Given the description of an element on the screen output the (x, y) to click on. 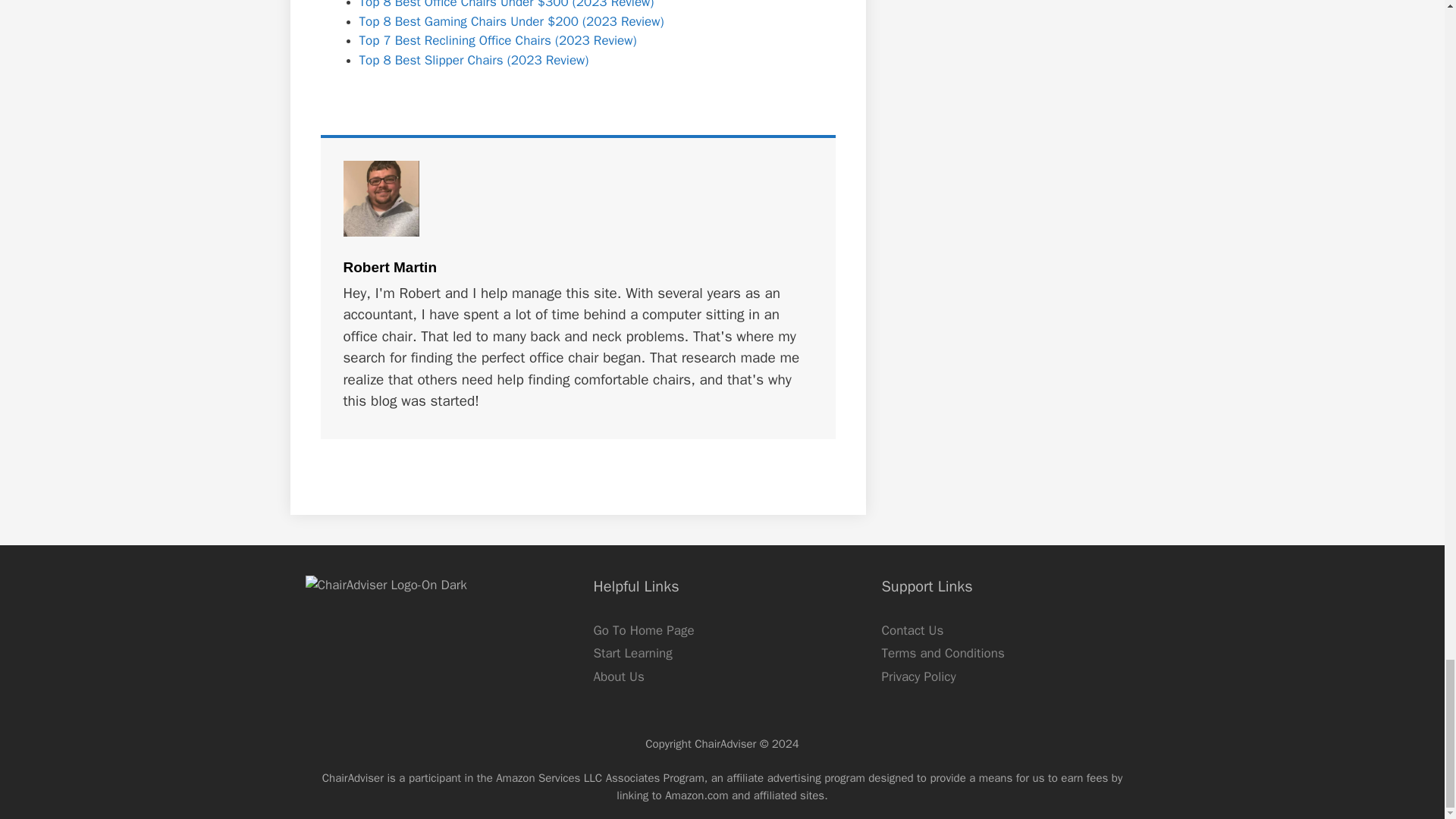
Start Learning (631, 652)
Contact Us (911, 630)
Go To Home Page (643, 630)
About Us (617, 676)
